Given the description of an element on the screen output the (x, y) to click on. 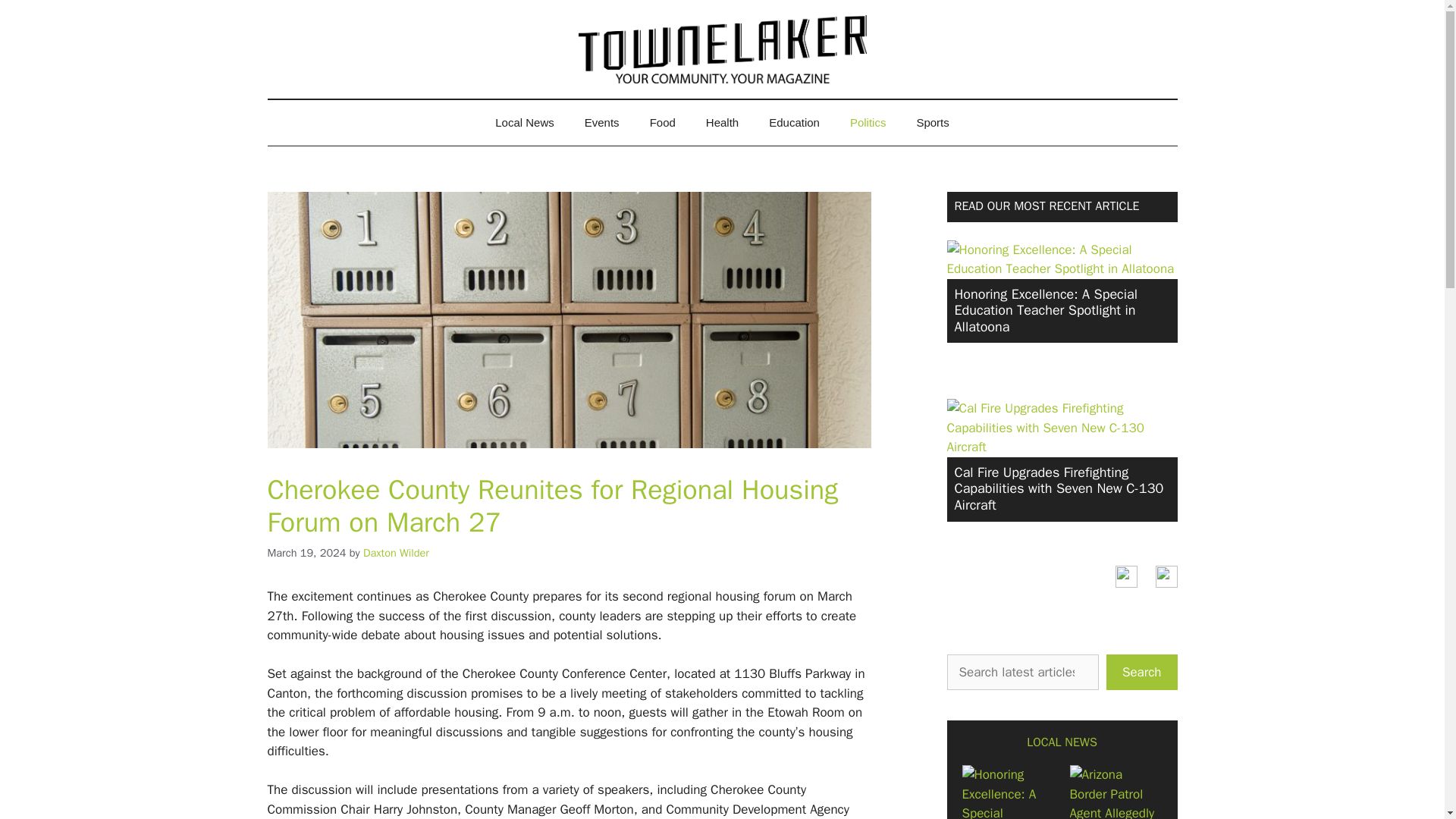
Health (722, 122)
Search (1141, 672)
Local News (524, 122)
Events (601, 122)
Education (794, 122)
Daxton Wilder (395, 552)
View all posts by Daxton Wilder (395, 552)
Politics (867, 122)
